Given the description of an element on the screen output the (x, y) to click on. 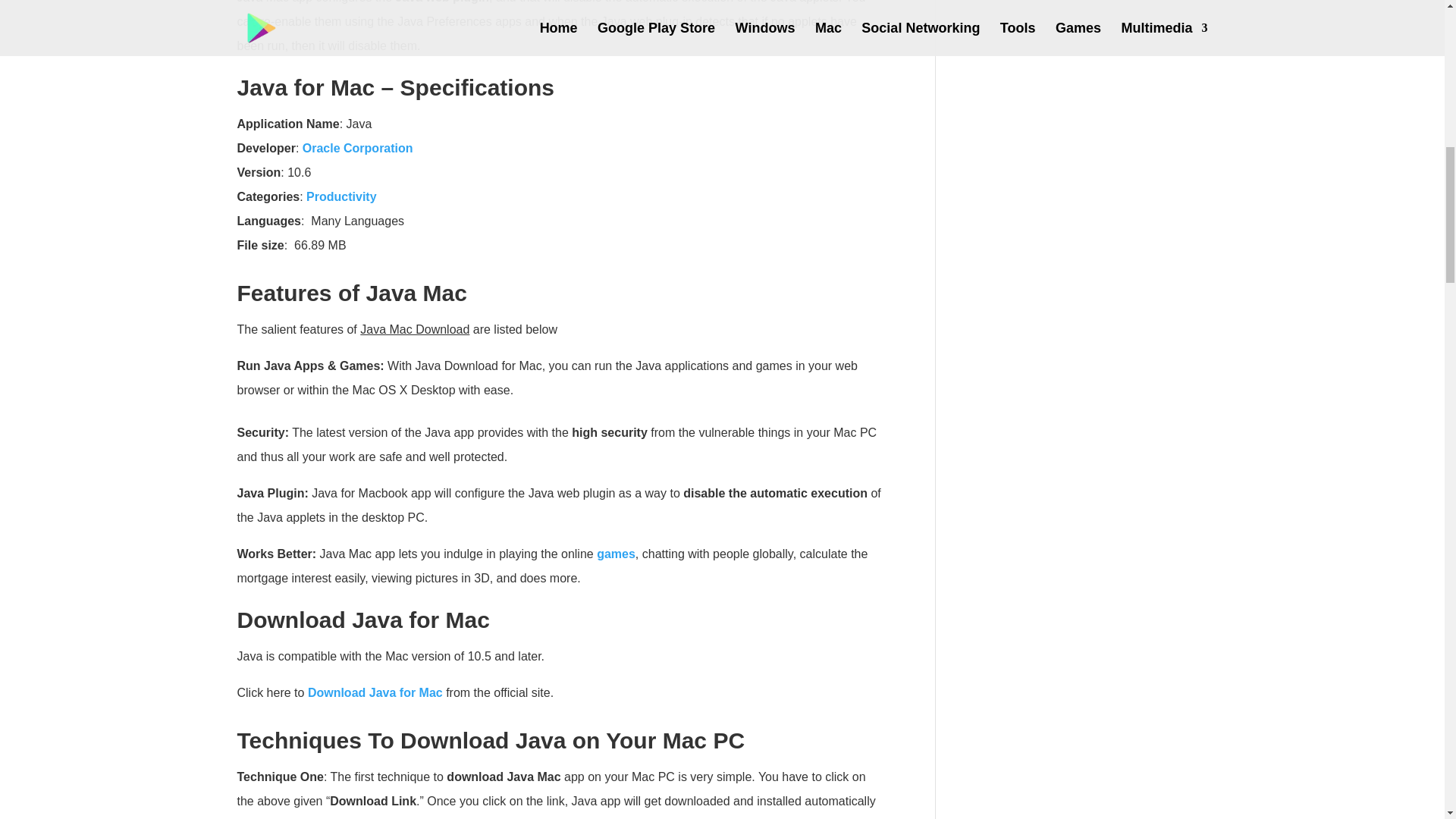
Download Java for Mac (374, 691)
Oracle Corporation (357, 146)
Productivity (340, 195)
games (615, 553)
